Given the description of an element on the screen output the (x, y) to click on. 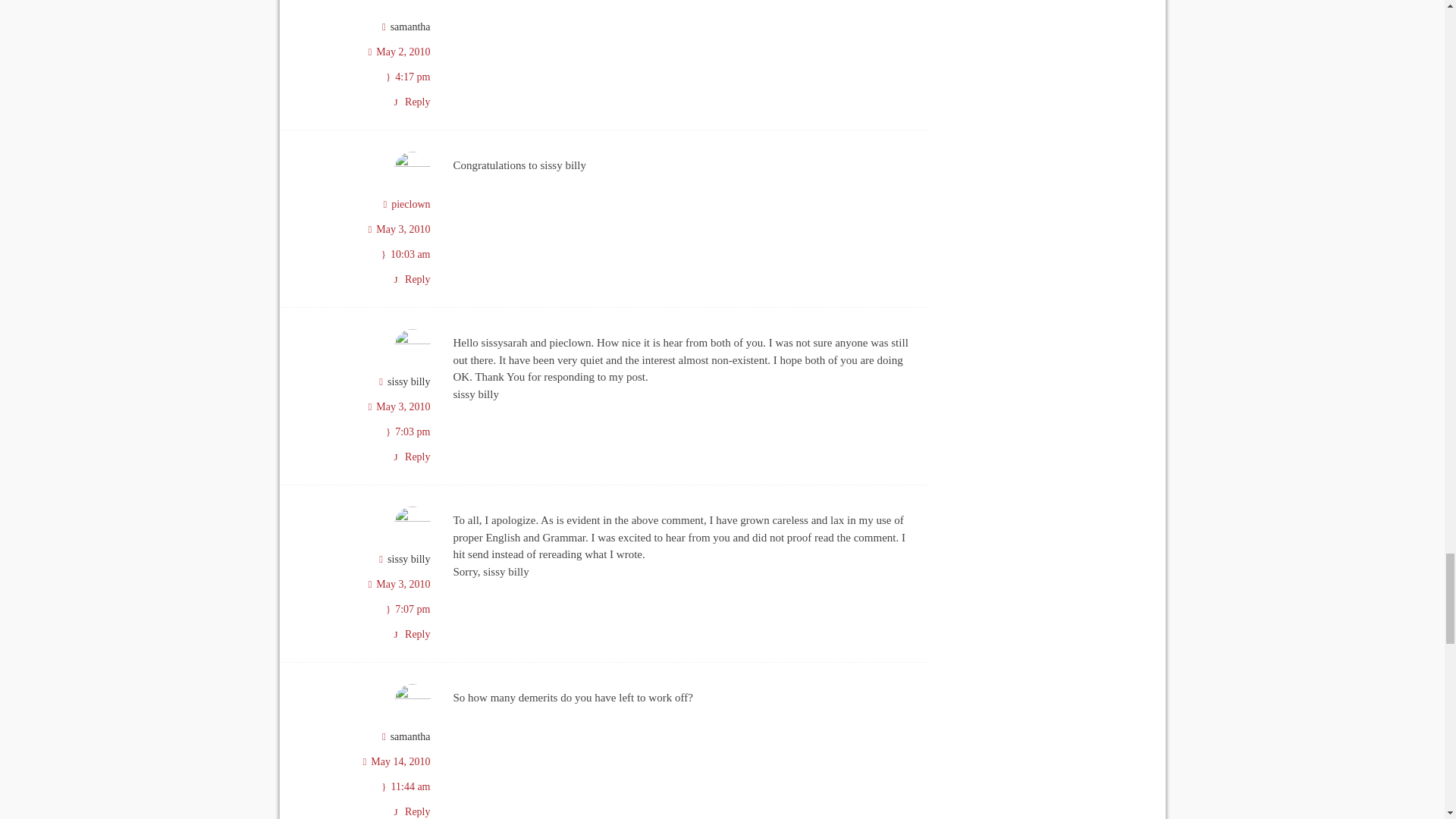
4:17 pm (411, 76)
Reply (411, 101)
May 3, 2010 (402, 229)
pieclown (410, 204)
May 2, 2010 (402, 51)
